Given the description of an element on the screen output the (x, y) to click on. 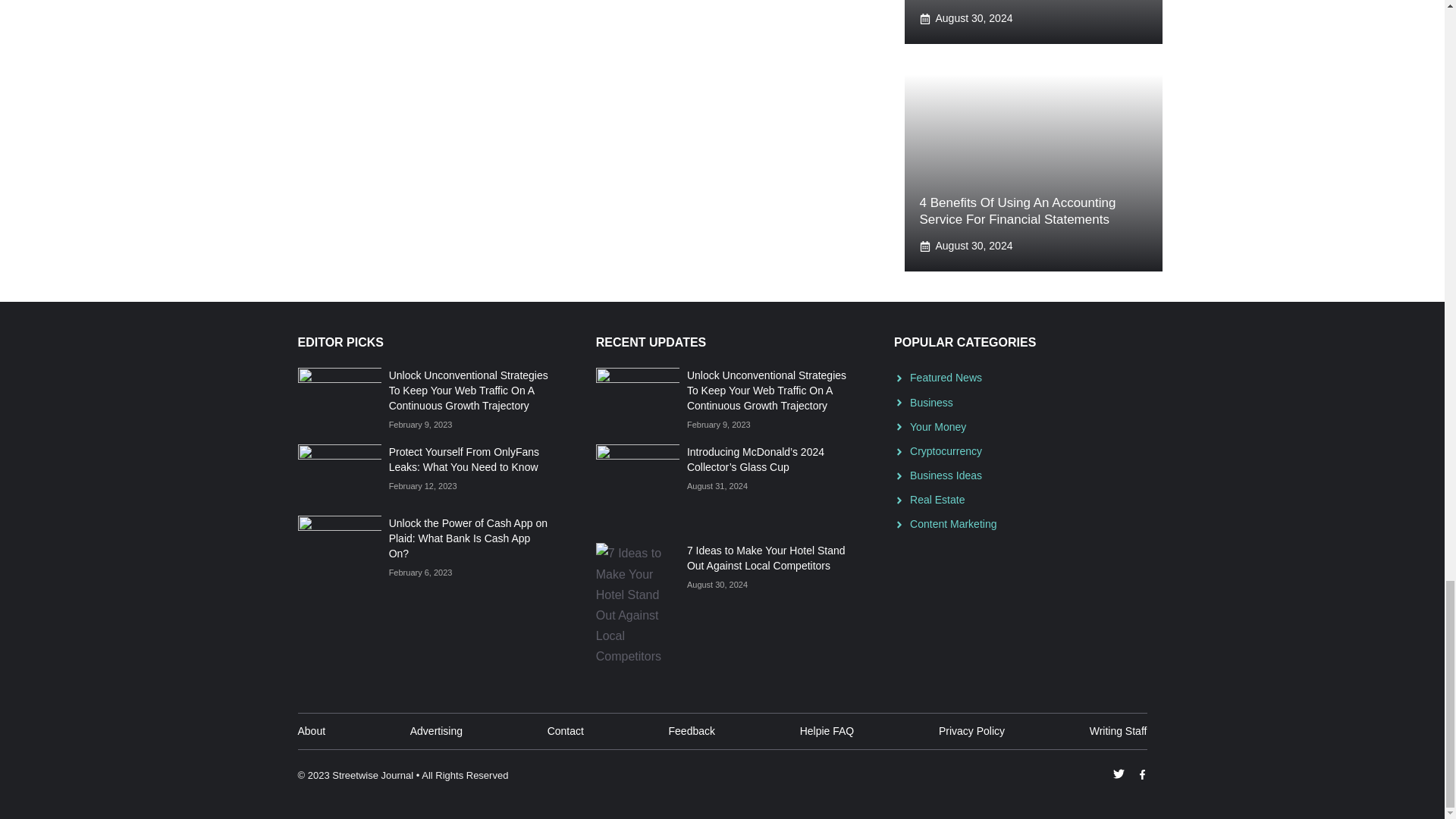
Featured News (945, 377)
Business (931, 402)
Protect Yourself From OnlyFans Leaks: What You Need to Know (463, 459)
